Given the description of an element on the screen output the (x, y) to click on. 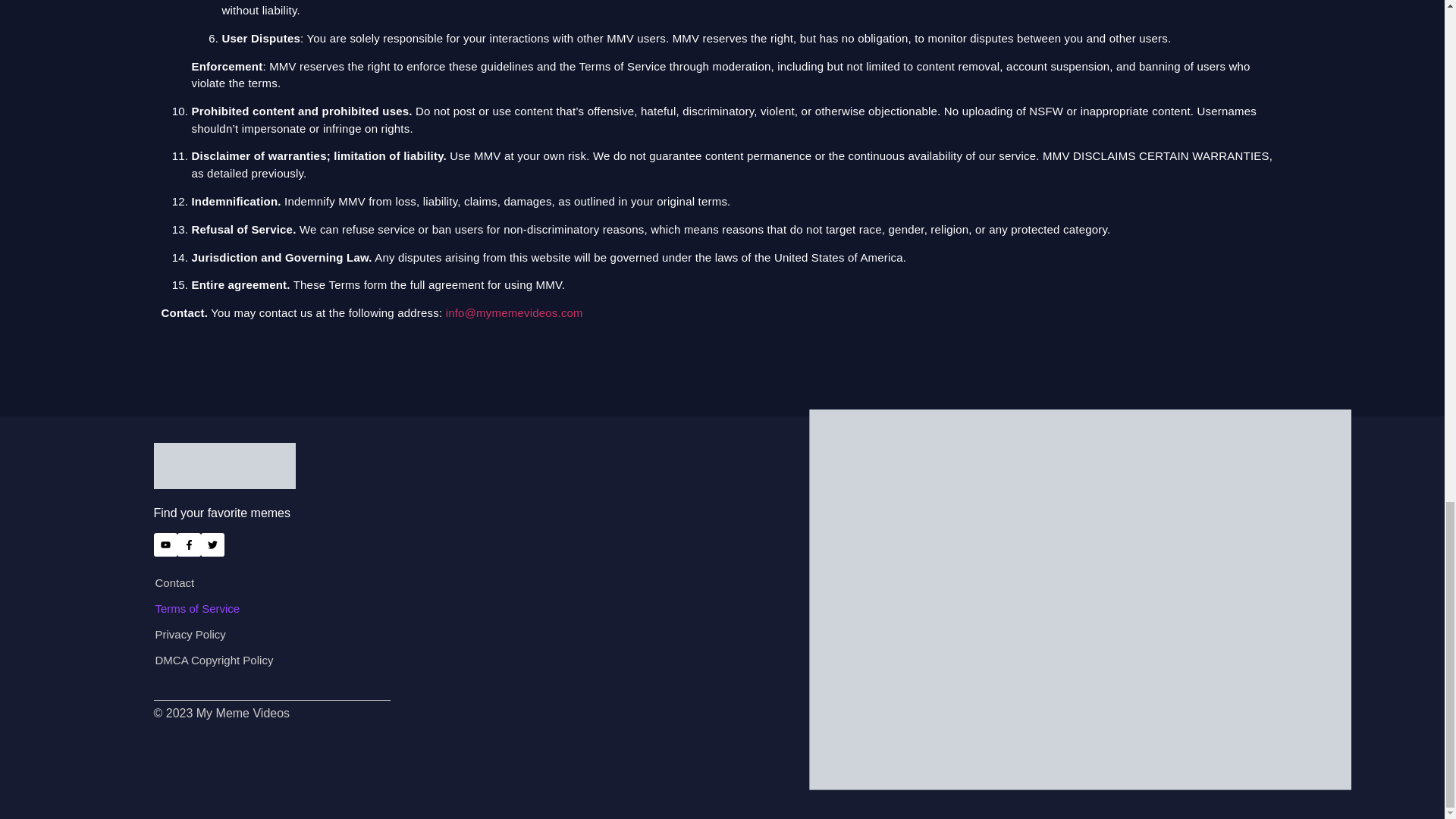
Contact (383, 583)
Privacy Policy (383, 634)
DMCA Copyright Policy (383, 660)
Terms of Service (383, 608)
